Given the description of an element on the screen output the (x, y) to click on. 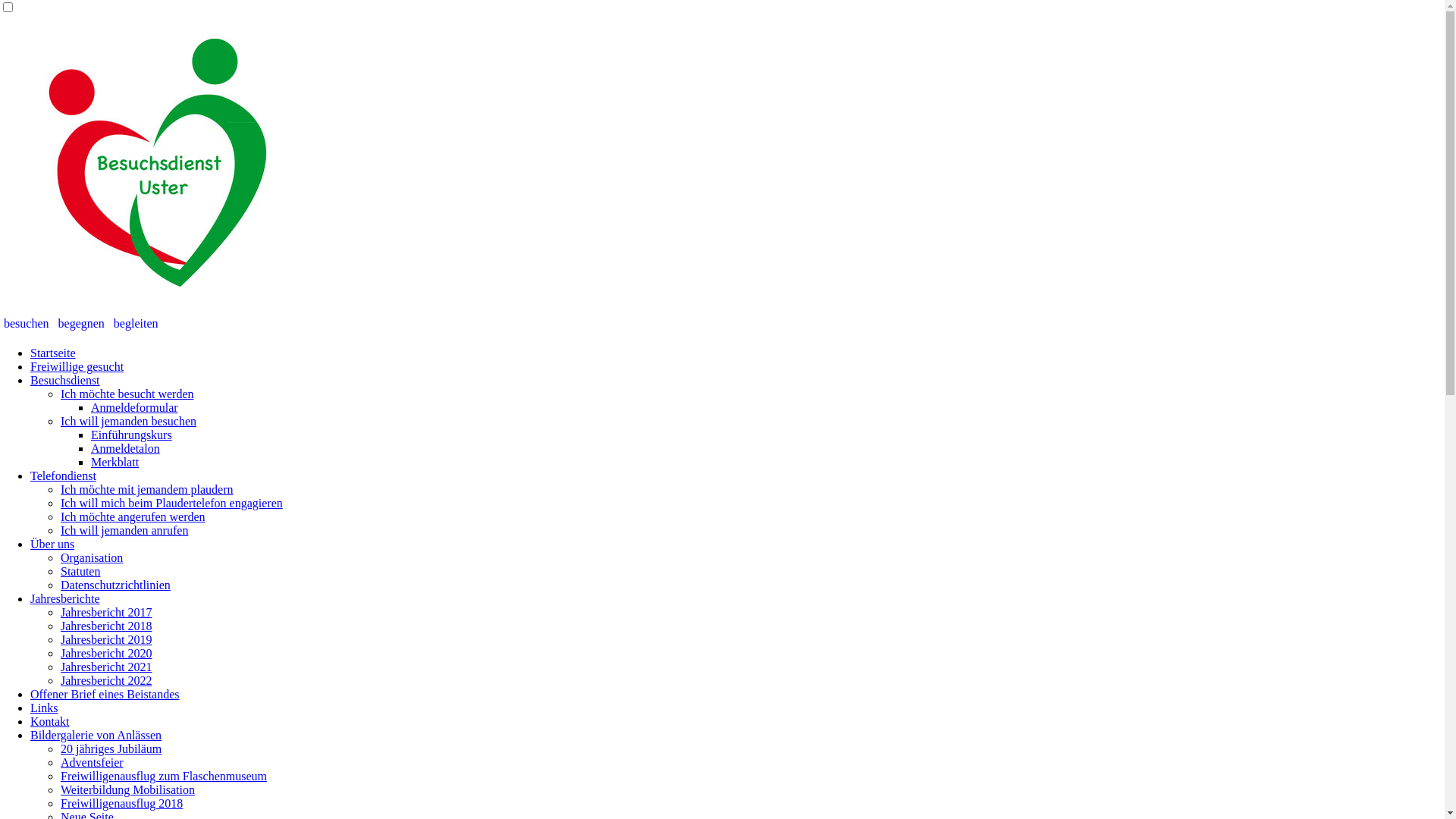
Adventsfeier Element type: text (91, 762)
Jahresberichte Element type: text (65, 598)
Freiwilligenausflug zum Flaschenmuseum Element type: text (163, 775)
Datenschutzrichtlinien Element type: text (115, 584)
Jahresbericht 2017 Element type: text (105, 611)
Jahresbericht 2018 Element type: text (105, 625)
Weiterbildung Mobilisation Element type: text (127, 789)
Freiwillige gesucht Element type: text (76, 366)
Jahresbericht 2021 Element type: text (105, 666)
Startseite Element type: text (52, 352)
Anmeldetalon Element type: text (125, 448)
Links Element type: text (43, 707)
Jahresbericht 2020 Element type: text (105, 652)
Ich will jemanden anrufen Element type: text (124, 530)
besuchen   begegnen   begleiten Element type: text (80, 322)
Offener Brief eines Beistandes Element type: text (104, 693)
Besuchsdienst Element type: text (65, 379)
Anmeldeformular Element type: text (134, 407)
Ich will jemanden besuchen Element type: text (128, 420)
Merkblatt Element type: text (114, 461)
Freiwilligenausflug 2018 Element type: text (121, 803)
Ich will mich beim Plaudertelefon engagieren Element type: text (171, 502)
Jahresbericht 2019 Element type: text (105, 639)
Jahresbericht 2022 Element type: text (105, 680)
Statuten Element type: text (80, 570)
Organisation Element type: text (91, 557)
Kontakt Element type: text (49, 721)
Telefondienst Element type: text (63, 475)
